Given the description of an element on the screen output the (x, y) to click on. 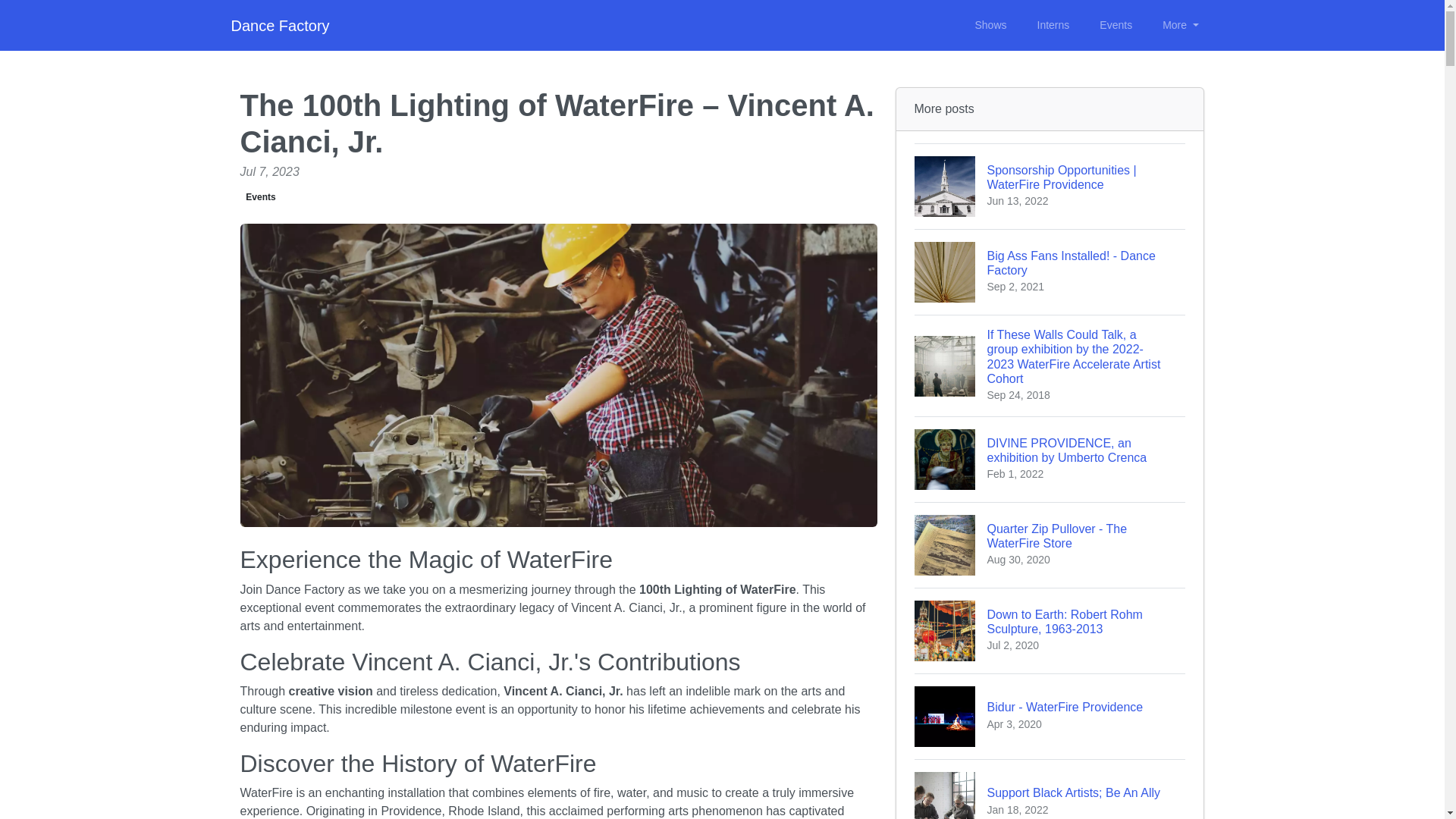
Interns (1052, 25)
More (1180, 25)
Shows (1050, 716)
Dance Factory (1050, 545)
Events (1050, 789)
Events (989, 25)
